Given the description of an element on the screen output the (x, y) to click on. 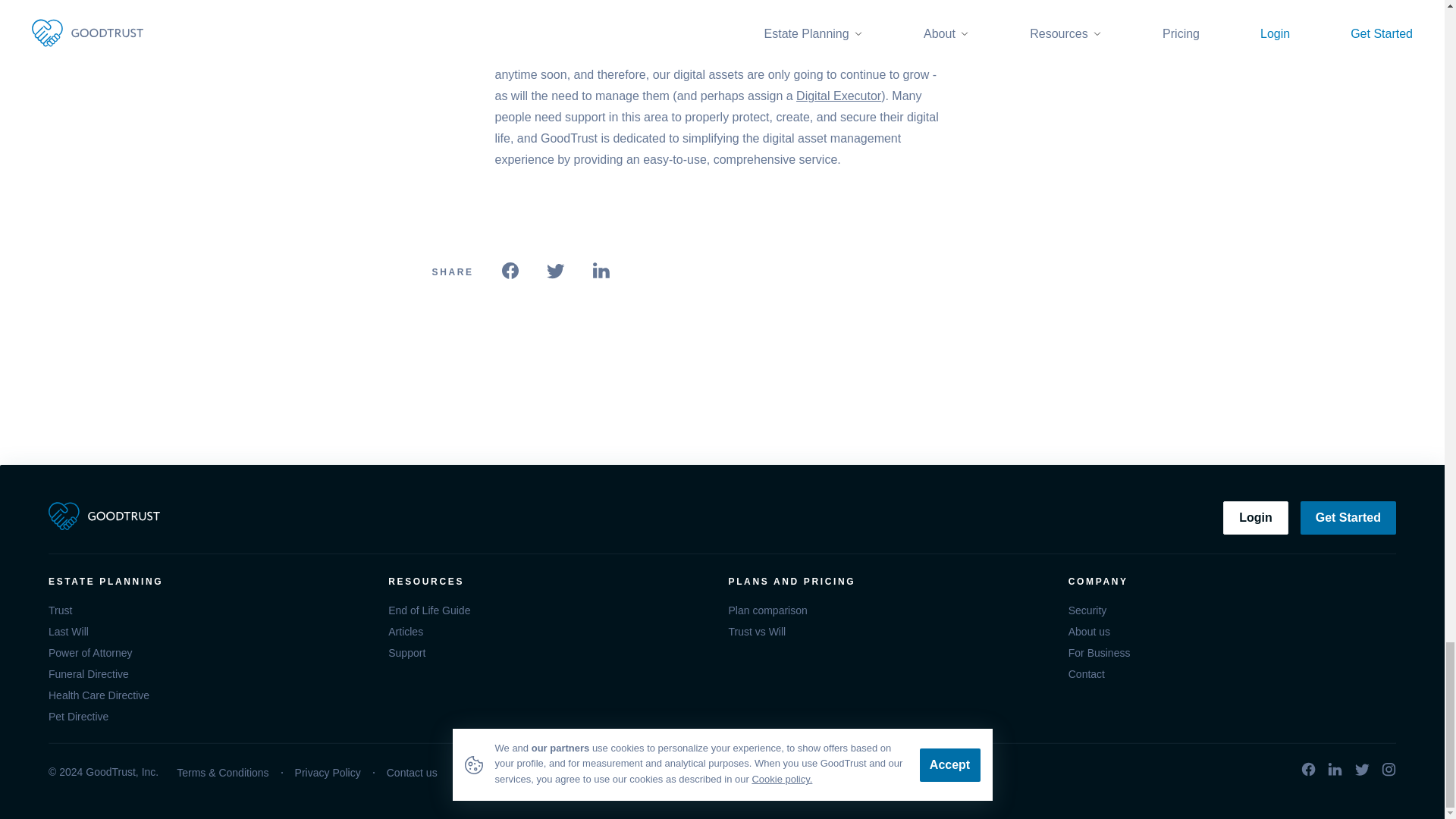
Plan comparison (891, 610)
Funeral Directive (211, 673)
About us (1232, 631)
Power of Attorney (211, 652)
Support (552, 652)
Digital Executor (838, 96)
ESTATE PLANNING (211, 581)
COMPANY (1232, 581)
Trust (211, 610)
PLANS AND PRICING (891, 581)
Get Started (1348, 517)
Security (1232, 610)
Trust vs Will (891, 631)
Health Care Directive (211, 694)
Articles (552, 631)
